Given the description of an element on the screen output the (x, y) to click on. 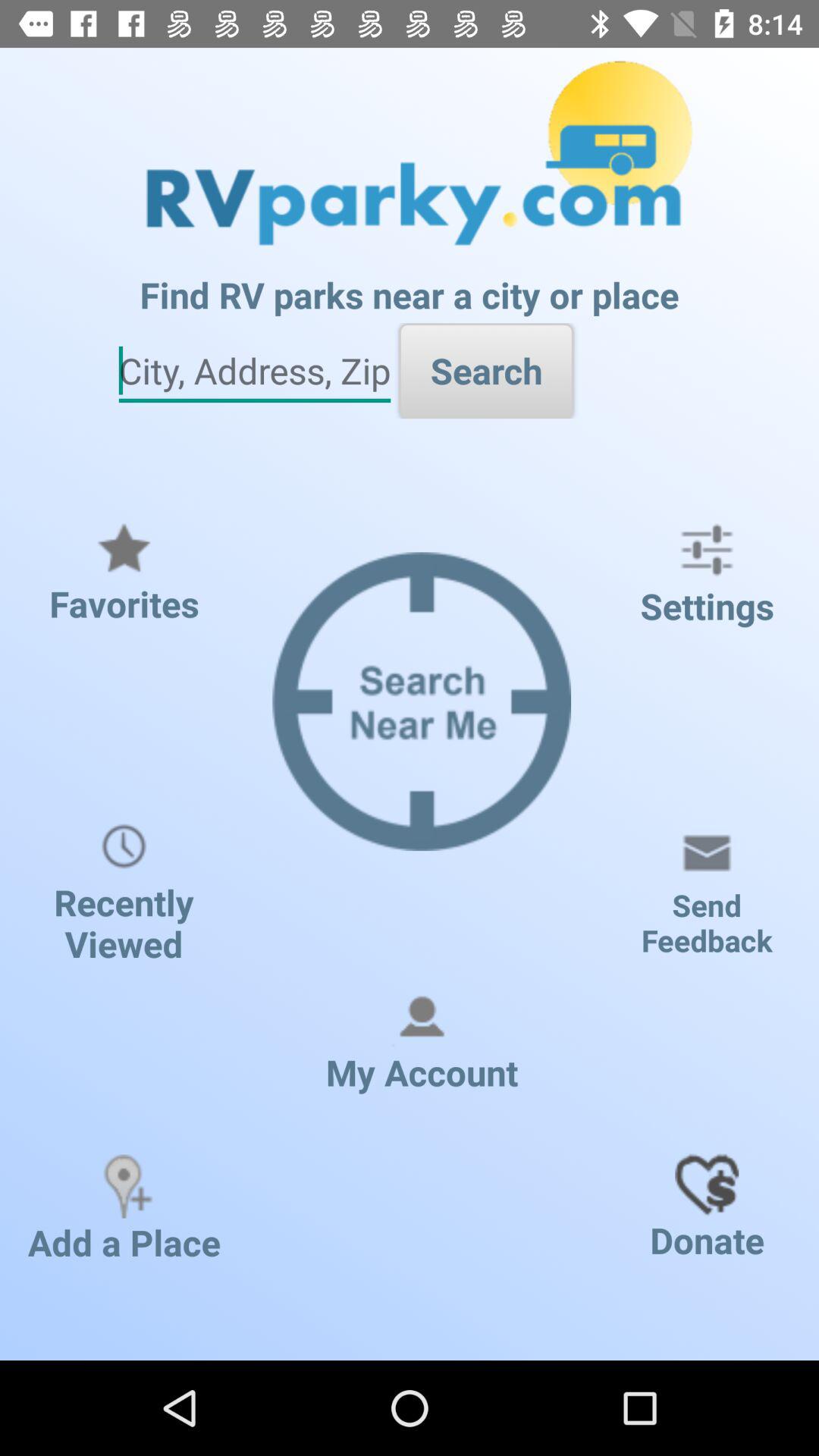
find closest parks (254, 371)
